Given the description of an element on the screen output the (x, y) to click on. 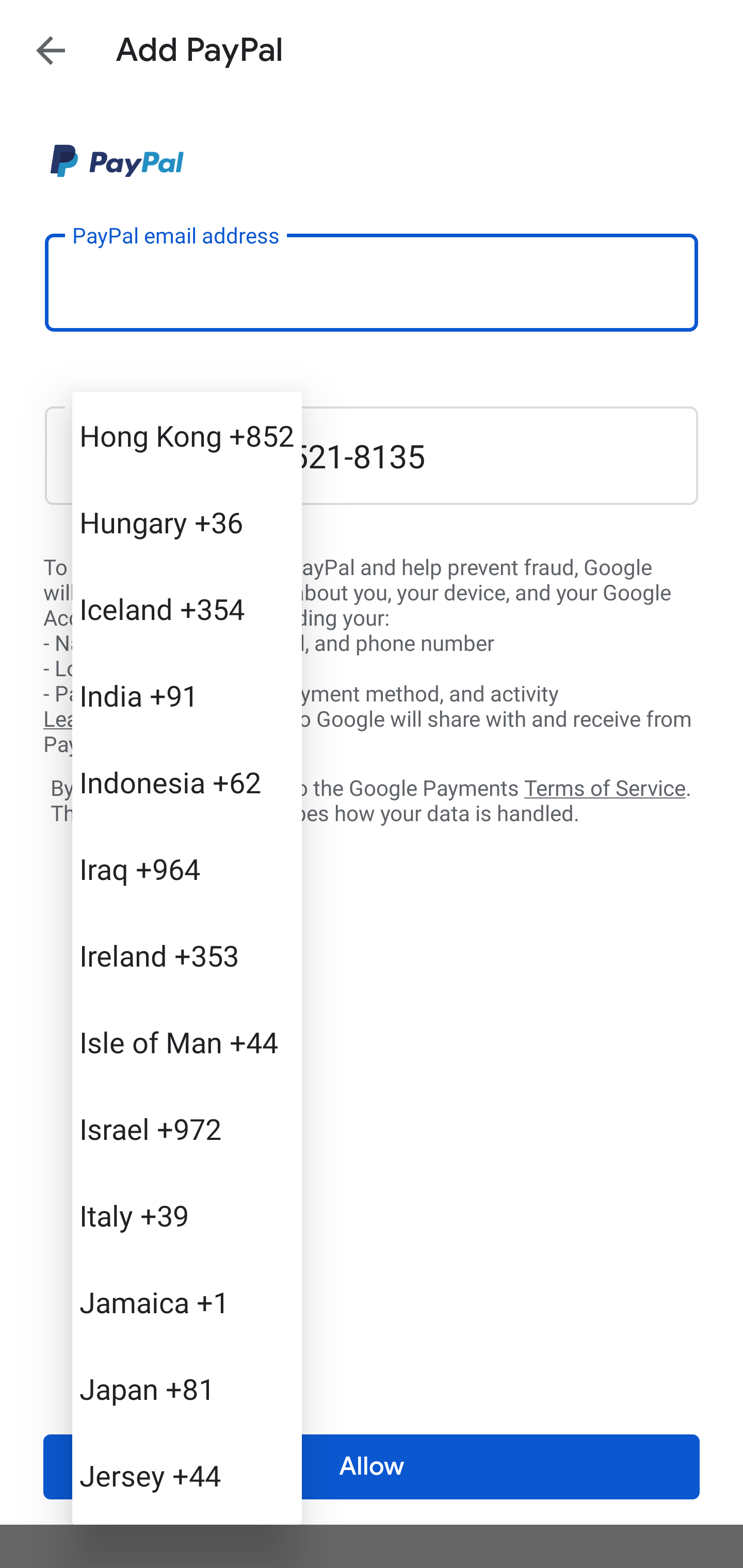
Hong Kong +852 (186, 435)
Hungary +36 (186, 522)
Iceland +354 (186, 609)
India +91 (186, 695)
Indonesia +62 (186, 781)
Iraq +964 (186, 868)
Ireland +353 (186, 955)
Isle of Man +44 (186, 1041)
Israel +972 (186, 1128)
Italy +39 (186, 1215)
Jamaica +1 (186, 1302)
Japan +81 (186, 1388)
Jersey +44 (186, 1474)
